Given the description of an element on the screen output the (x, y) to click on. 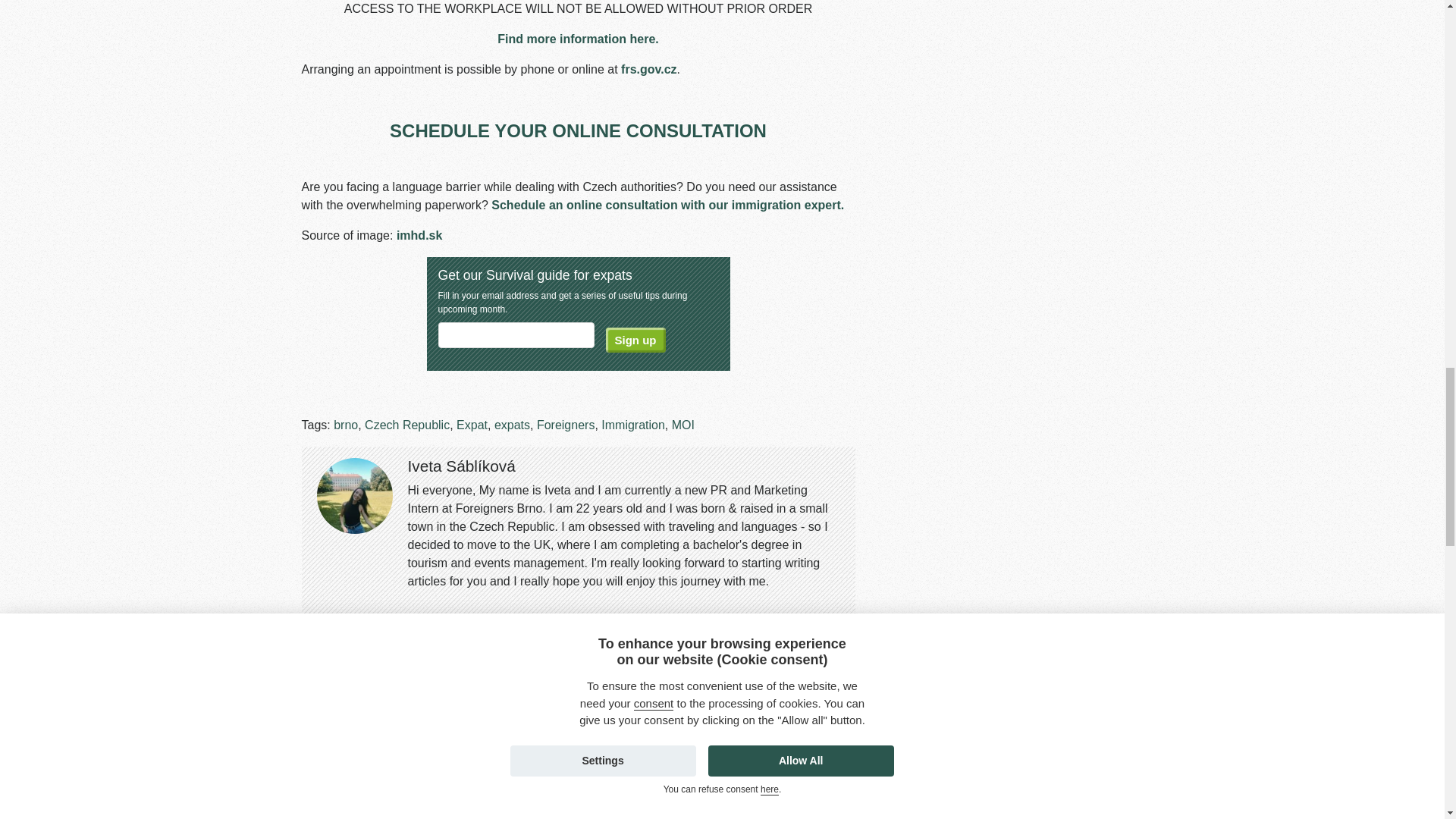
frs.gov.cz (649, 69)
SCHEDULE YOUR ONLINE CONSULTATION (578, 130)
brno (345, 424)
Find more information here. (577, 38)
imhd.sk (419, 235)
Sign up (635, 339)
Schedule an online consultation with our immigration expert. (668, 205)
